Given the description of an element on the screen output the (x, y) to click on. 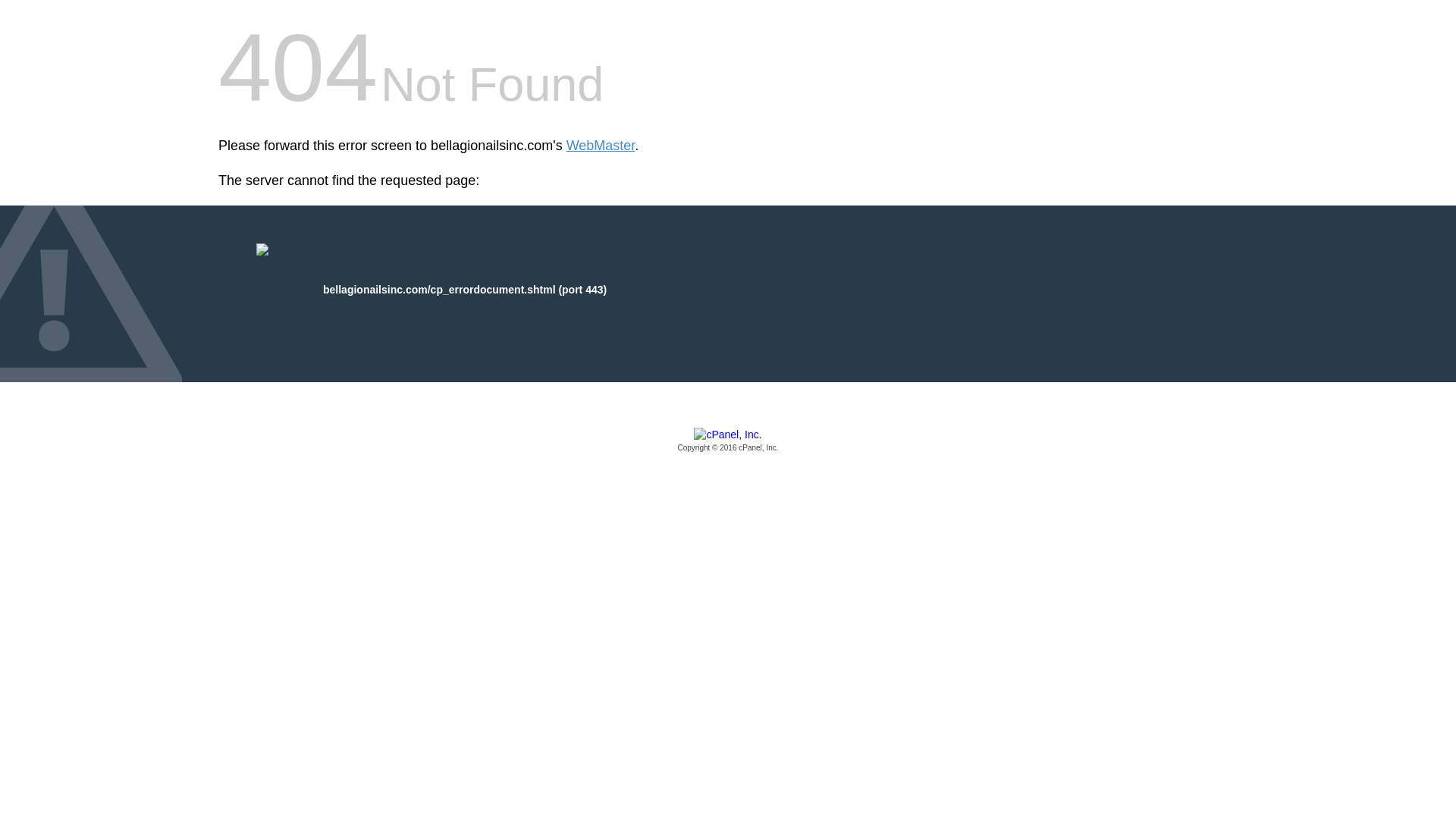
cPanel, Inc. (727, 440)
WebMaster (600, 145)
